Given the description of an element on the screen output the (x, y) to click on. 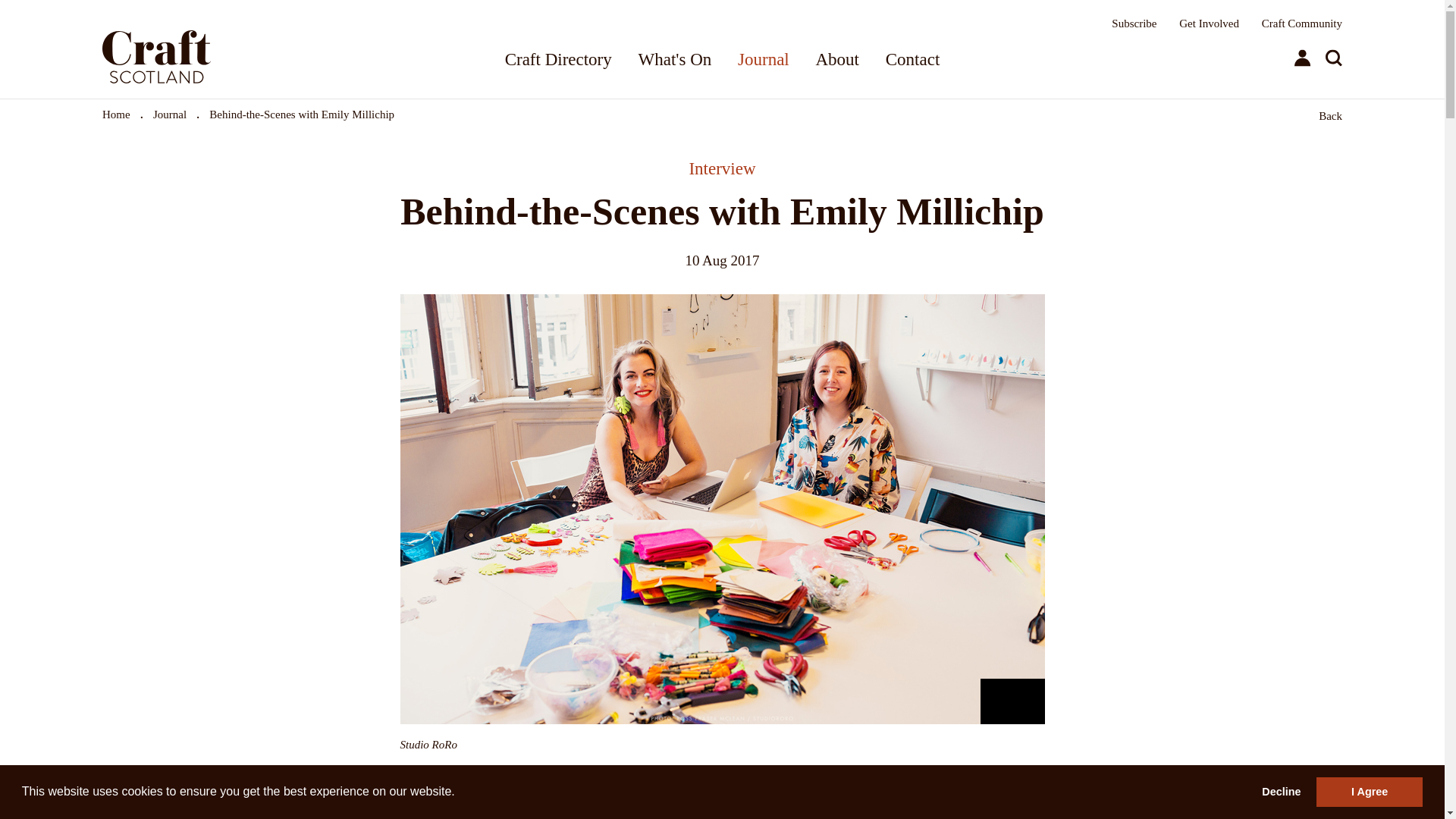
Get Involved (1209, 23)
Journal (763, 58)
Craft Scotland (196, 49)
About (837, 58)
Craft Community (1302, 23)
Back (1330, 115)
What's On (675, 58)
Behind-the-Scenes with Emily Millichip (301, 114)
Contact (912, 58)
Craft Directory (558, 58)
I Agree (1369, 791)
Decline (1281, 791)
Subscribe (1134, 23)
Home (116, 114)
Journal (169, 114)
